Given the description of an element on the screen output the (x, y) to click on. 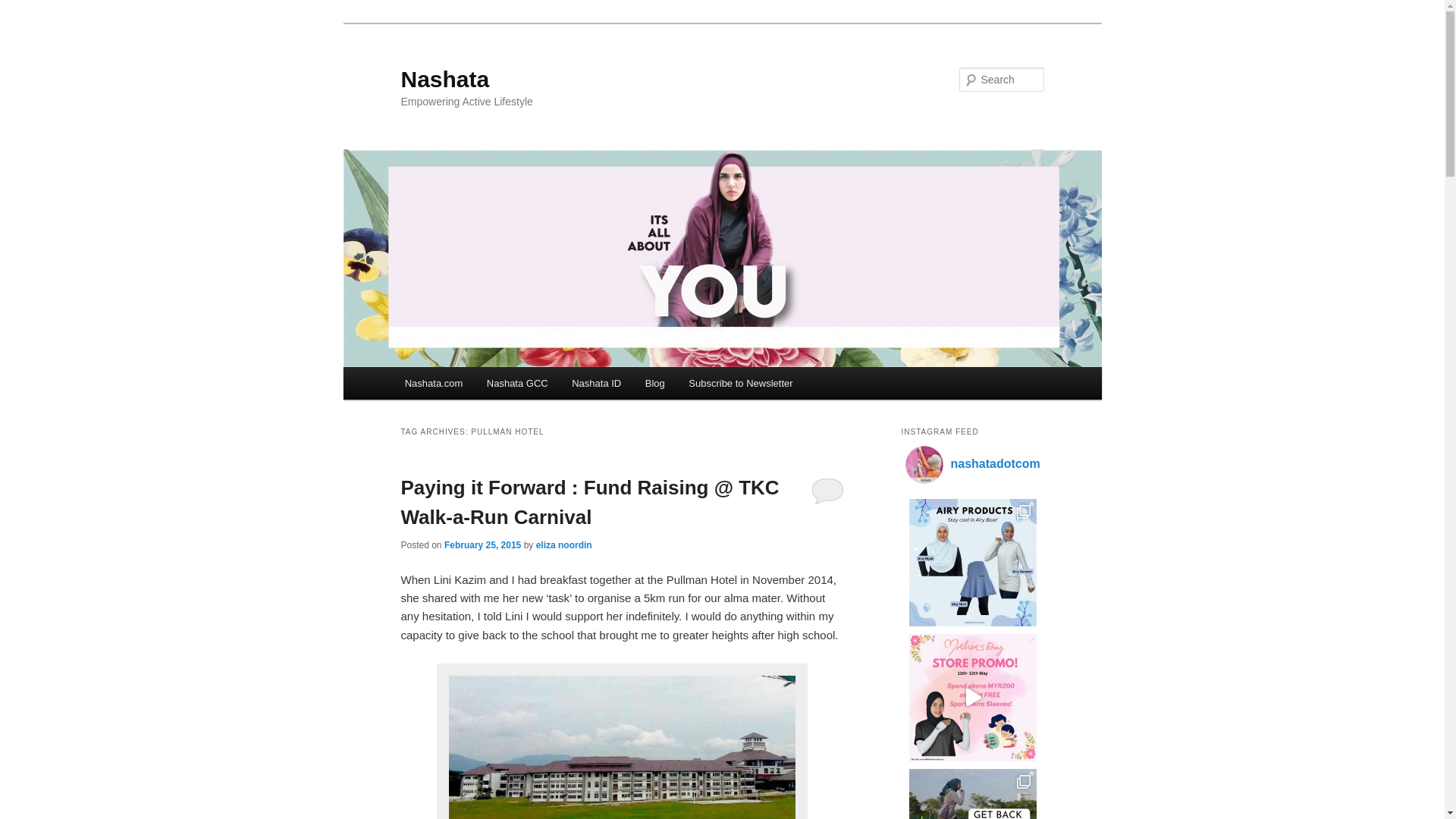
Nashata GCC (516, 382)
Nashata (444, 78)
Blog (655, 382)
Nashata ID (596, 382)
Subscribe to Newsletter (741, 382)
eliza noordin (563, 544)
1:24 am (482, 544)
Nashata.com (433, 382)
Search (24, 8)
February 25, 2015 (482, 544)
View all posts by eliza noordin (563, 544)
